Given the description of an element on the screen output the (x, y) to click on. 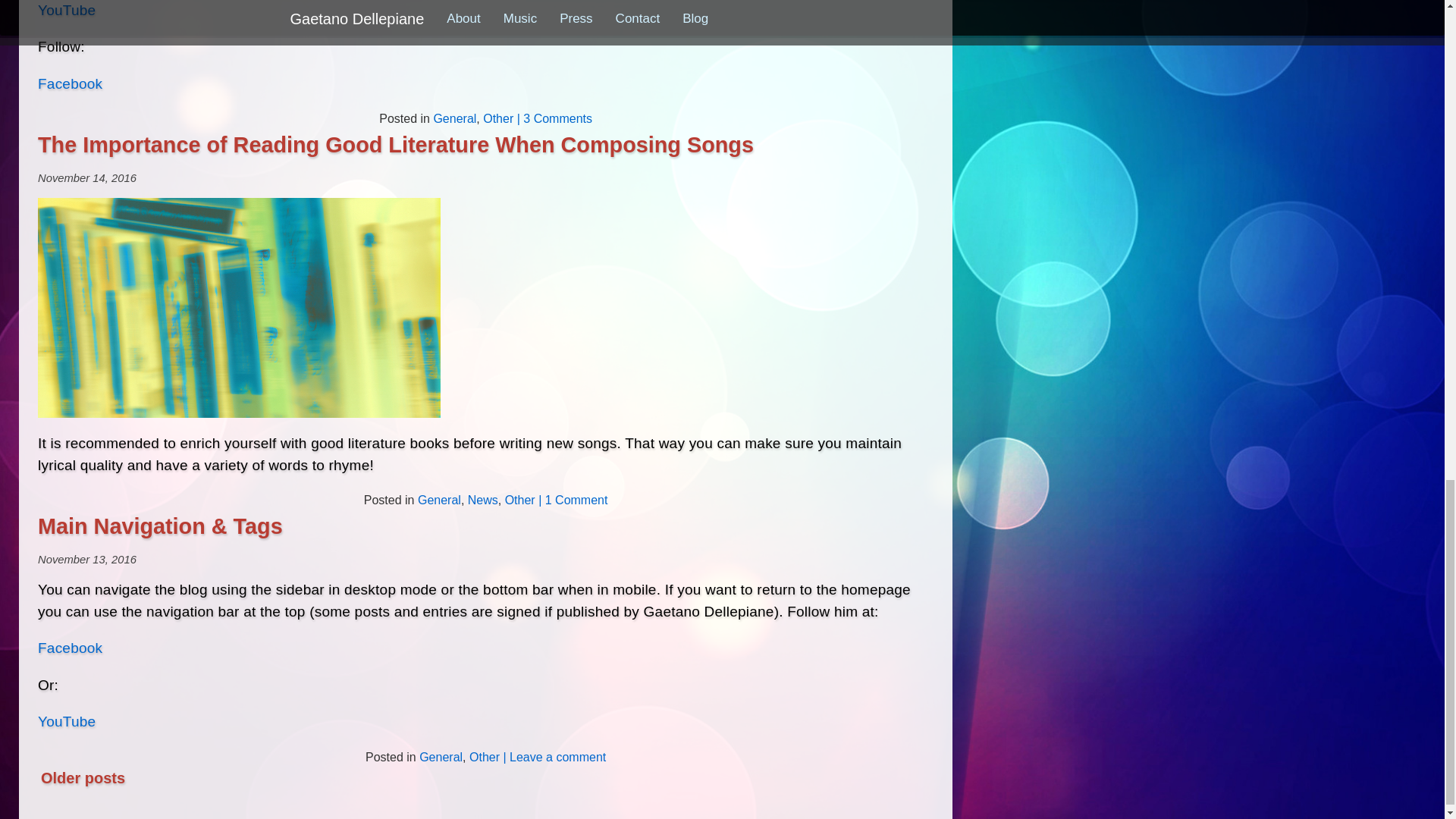
photos.jpg (239, 307)
General (454, 118)
November 14, 2016 (86, 177)
Other (498, 118)
News (482, 499)
YouTube (66, 10)
Facebook (69, 83)
General (439, 499)
